Given the description of an element on the screen output the (x, y) to click on. 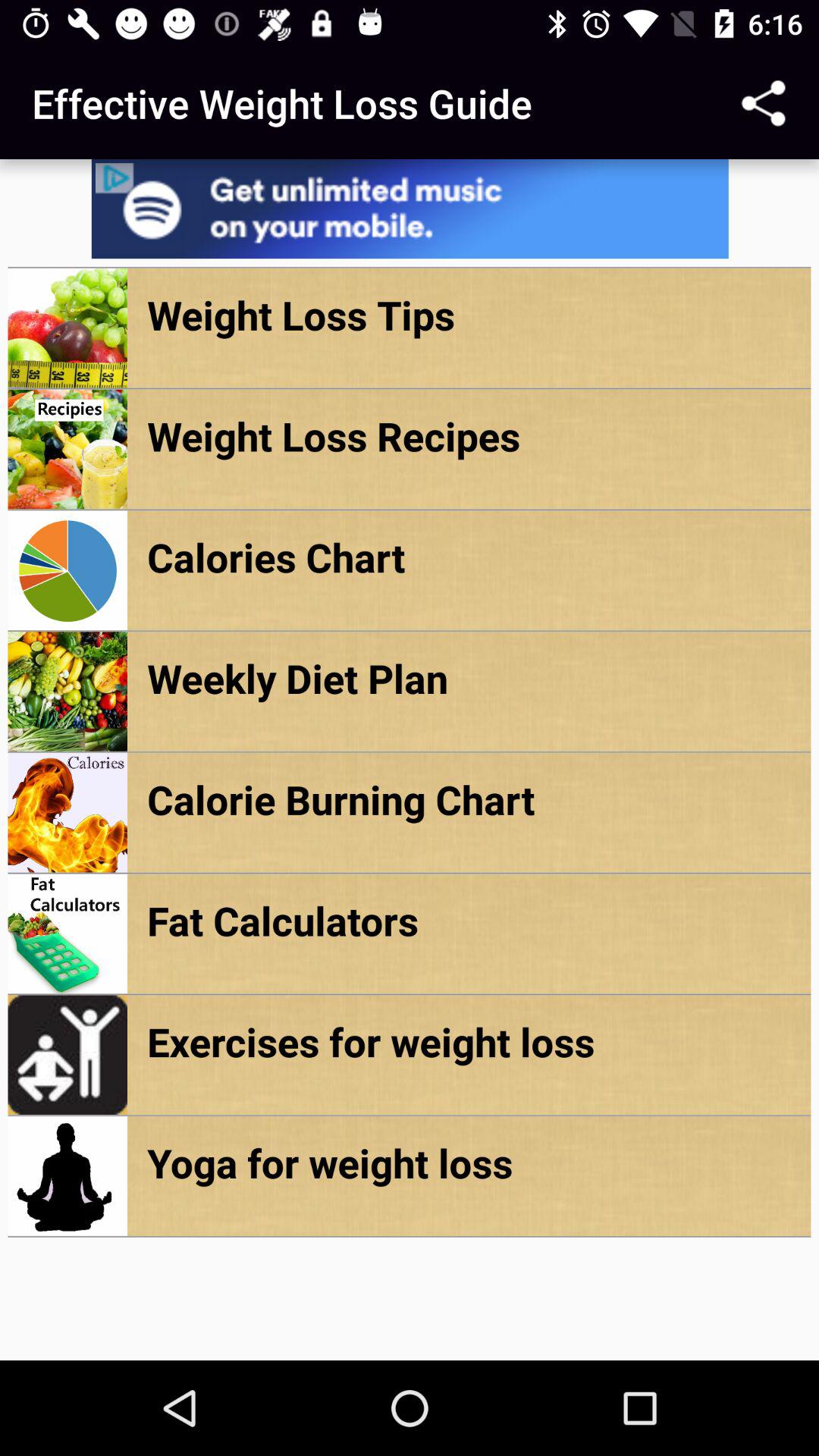
go to advertisement (409, 208)
